Given the description of an element on the screen output the (x, y) to click on. 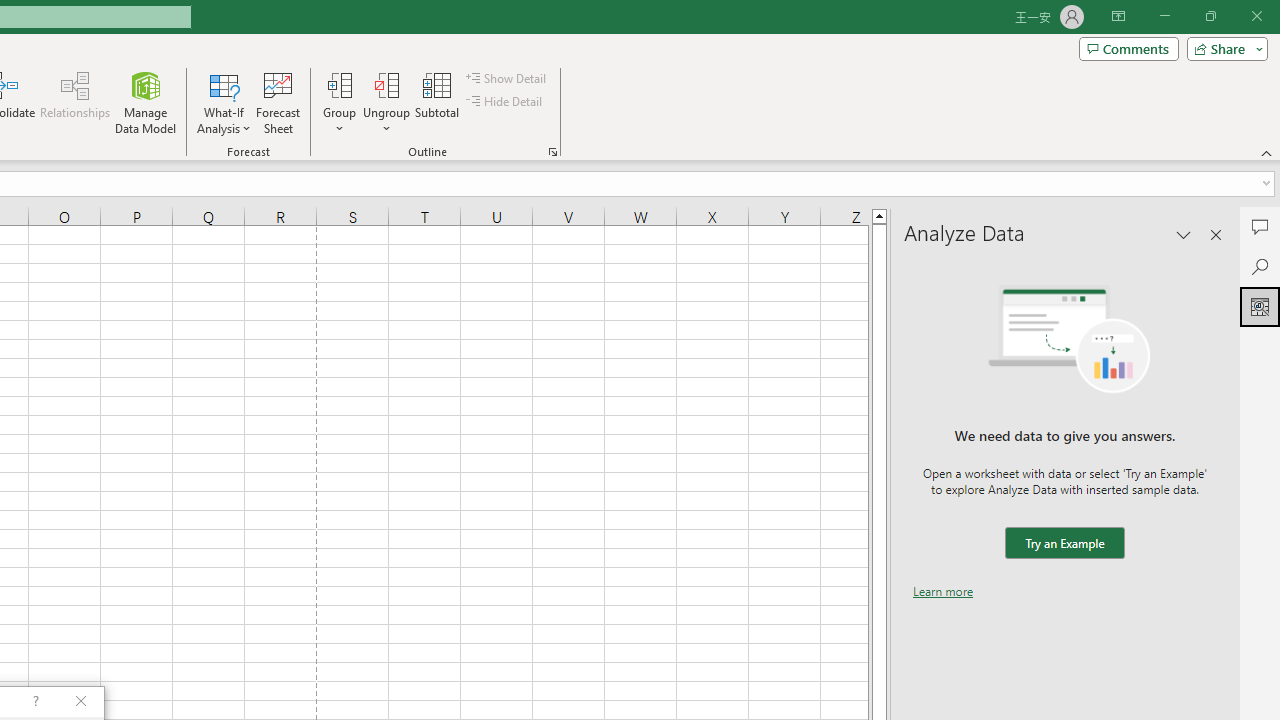
Learn more (943, 591)
Forecast Sheet (278, 102)
Subtotal (437, 102)
What-If Analysis (223, 102)
Group and Outline Settings (552, 151)
